Given the description of an element on the screen output the (x, y) to click on. 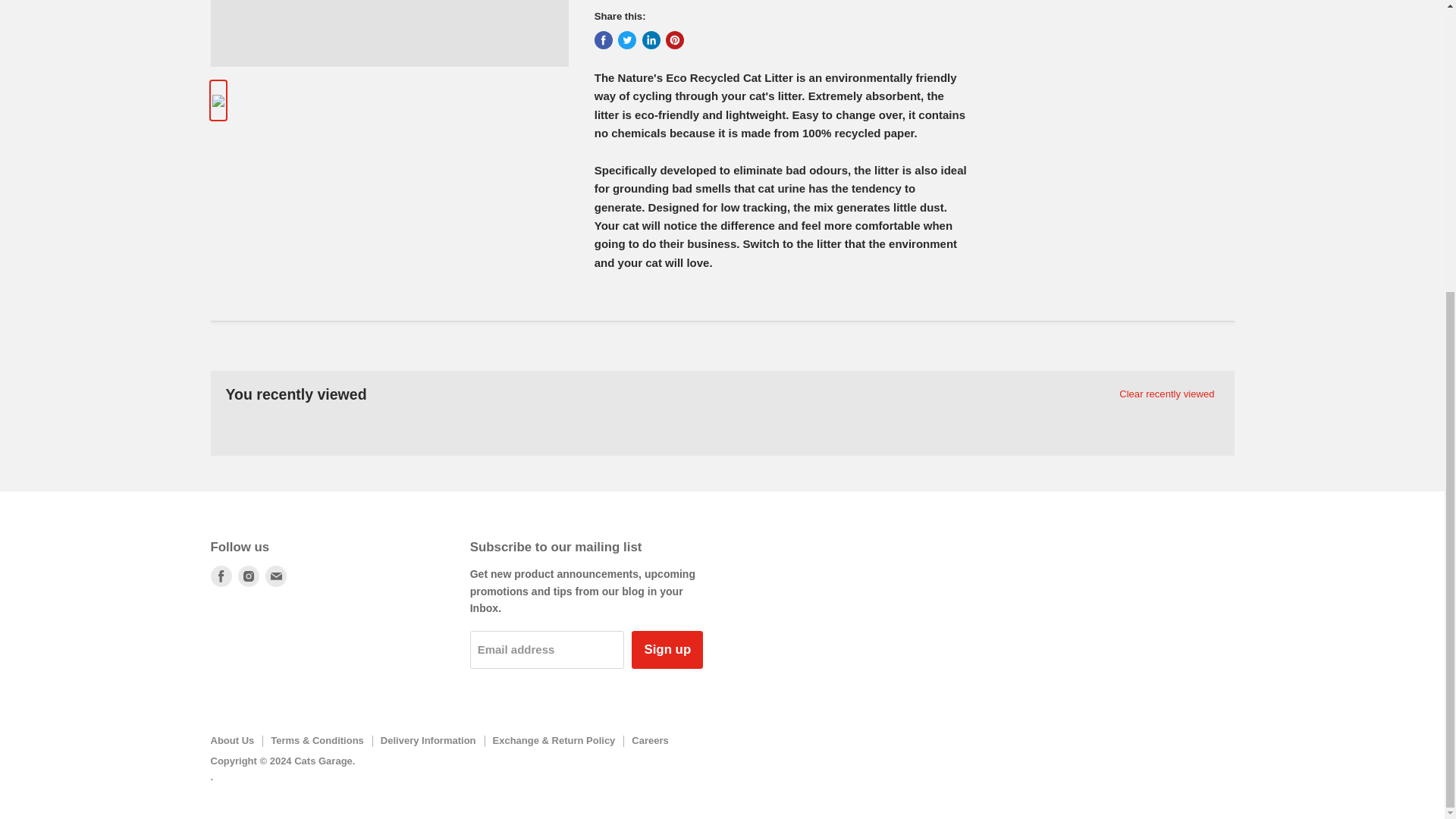
Facebook (221, 575)
Instagram (248, 575)
E-mail (275, 575)
